Given the description of an element on the screen output the (x, y) to click on. 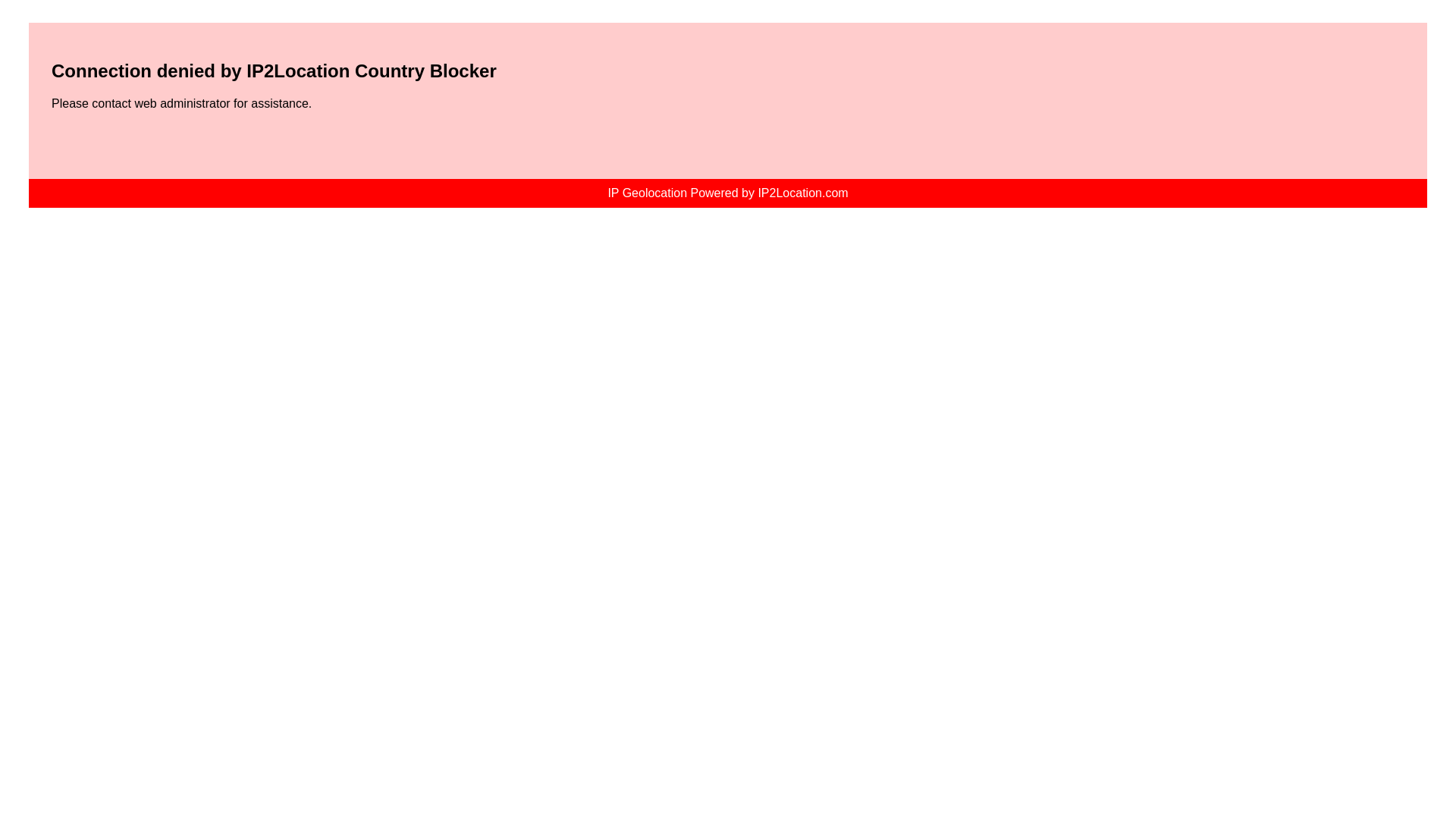
IP Geolocation Powered by IP2Location.com (727, 192)
